Given the description of an element on the screen output the (x, y) to click on. 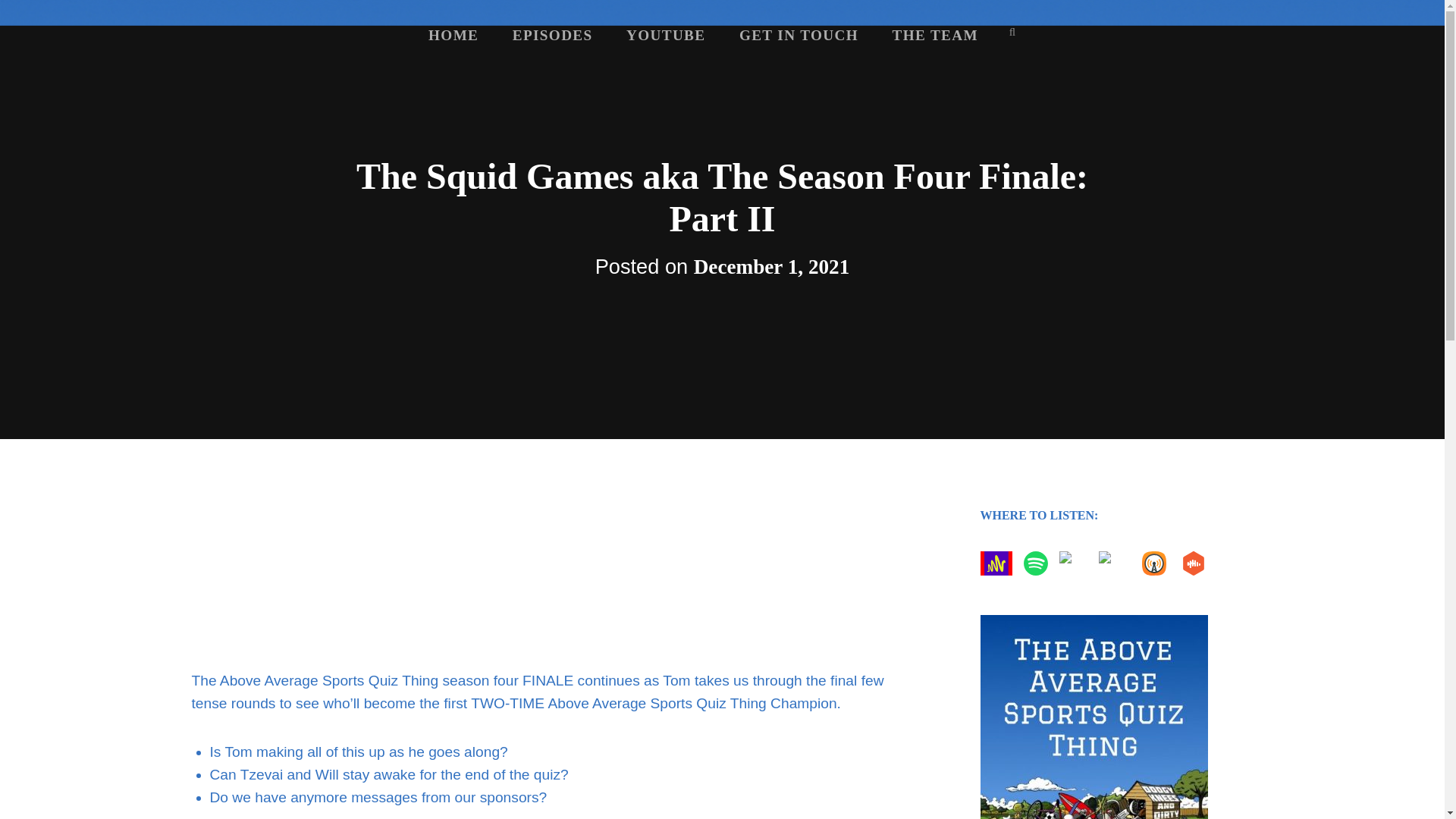
CastBox (1195, 563)
Overcast (1156, 563)
GET IN TOUCH (798, 35)
Google-Podcasts (1117, 563)
YOUTUBE (665, 35)
December 1, 2021 (772, 266)
EPISODES (552, 35)
HOME (453, 35)
Apple-Podcasts (1077, 563)
SEARCH (1012, 31)
Anchor (999, 563)
THE TEAM (934, 35)
Spotify (1038, 563)
